Given the description of an element on the screen output the (x, y) to click on. 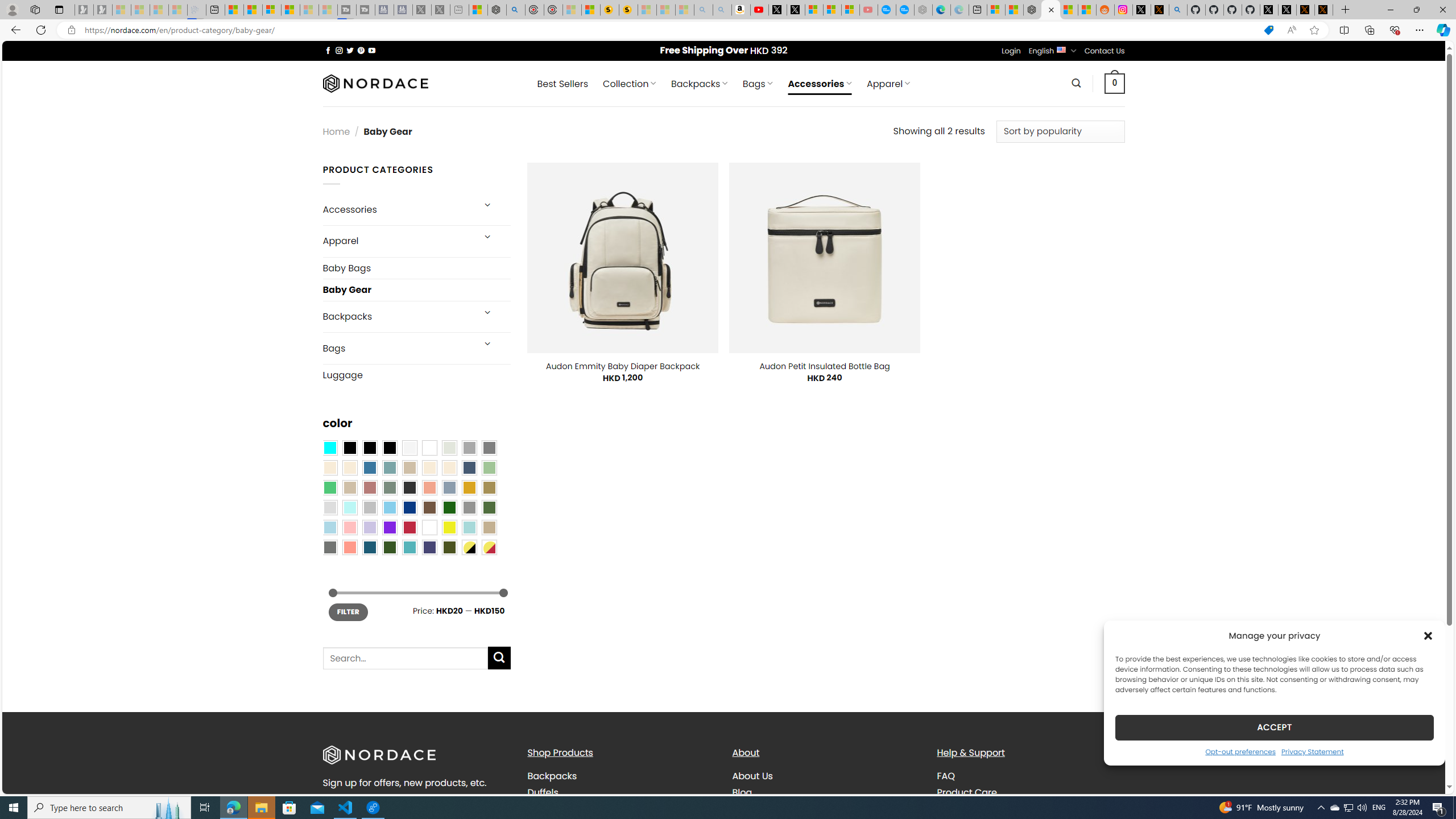
Blog (826, 792)
Capri Blue (369, 547)
Duffels (543, 792)
Nordace - Baby Gear (1050, 9)
Amazon Echo Dot PNG - Search Images - Sleeping (721, 9)
Khaki (488, 527)
Luggage (416, 375)
